Given the description of an element on the screen output the (x, y) to click on. 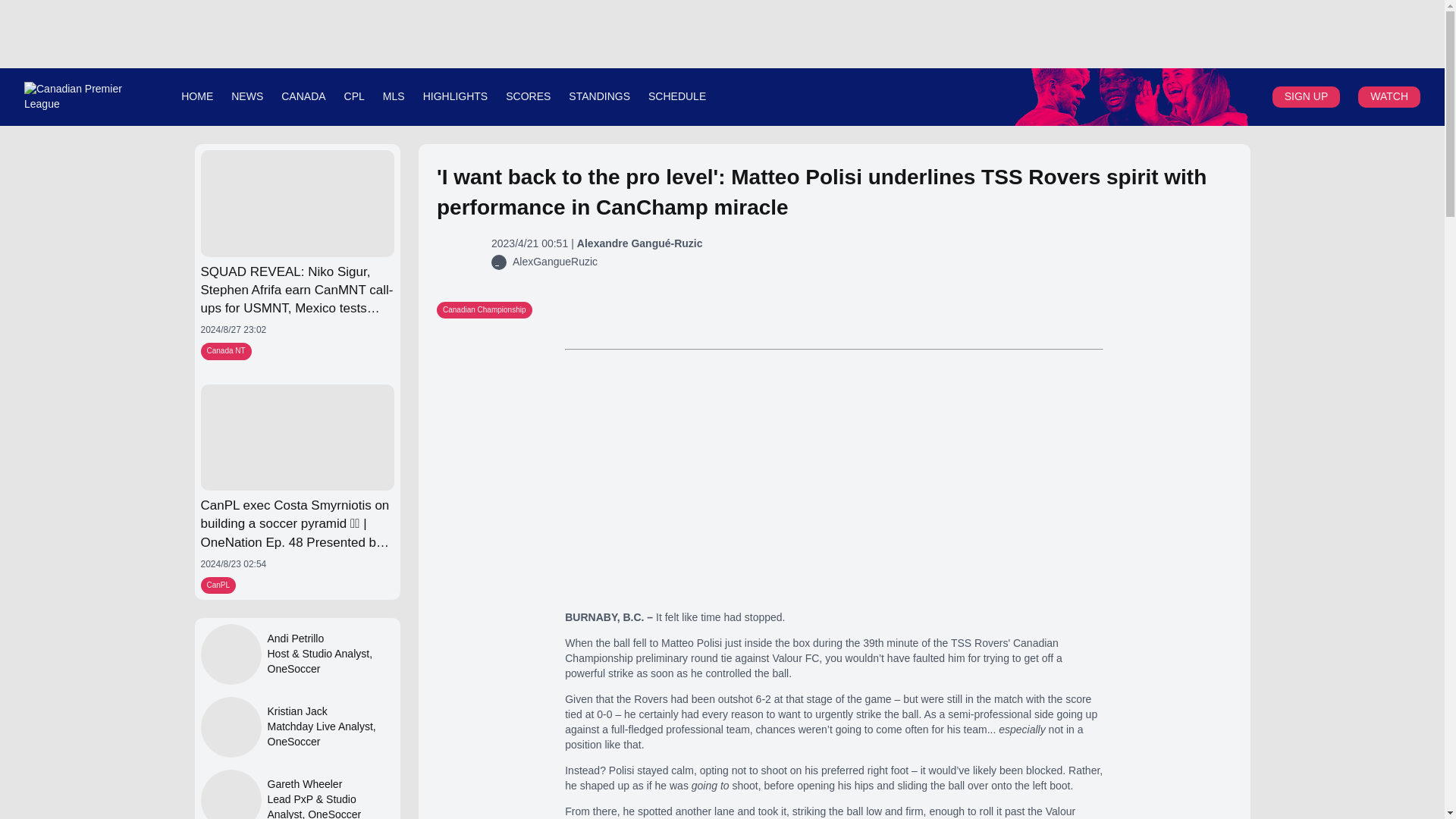
SCHEDULE (676, 96)
YouTube video player (833, 480)
HIGHLIGHTS (455, 96)
Kristian Jack (329, 711)
SIGN UP (1305, 96)
AlexGangueRuzic (554, 262)
WATCH (1388, 96)
MLS (393, 96)
STANDINGS (599, 96)
HOME (196, 96)
